Given the description of an element on the screen output the (x, y) to click on. 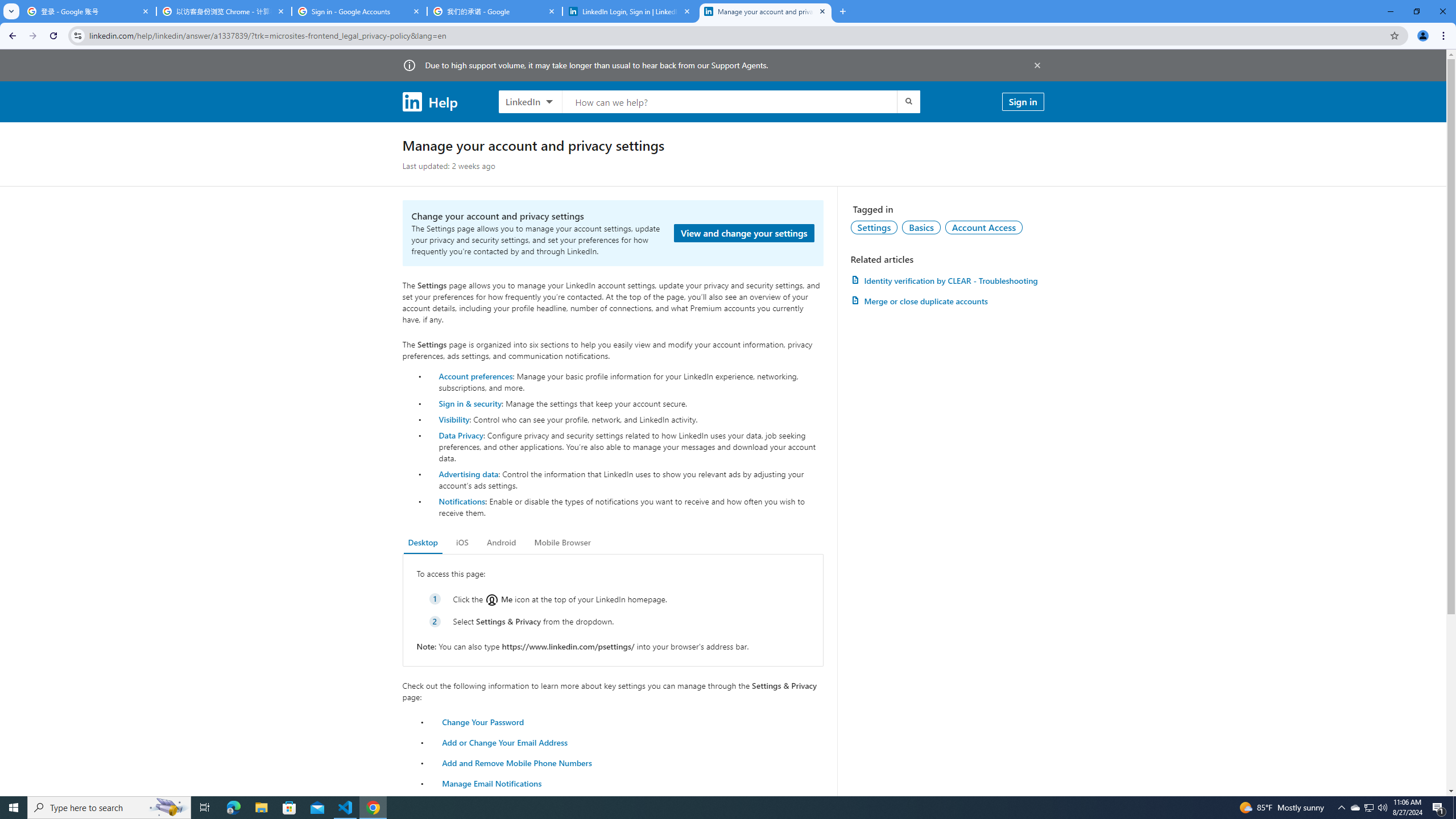
Visibility (454, 419)
Notifications (461, 500)
Account Access (983, 227)
Sign in & security (470, 402)
Android (501, 542)
Merge or close duplicate accounts (946, 300)
